Given the description of an element on the screen output the (x, y) to click on. 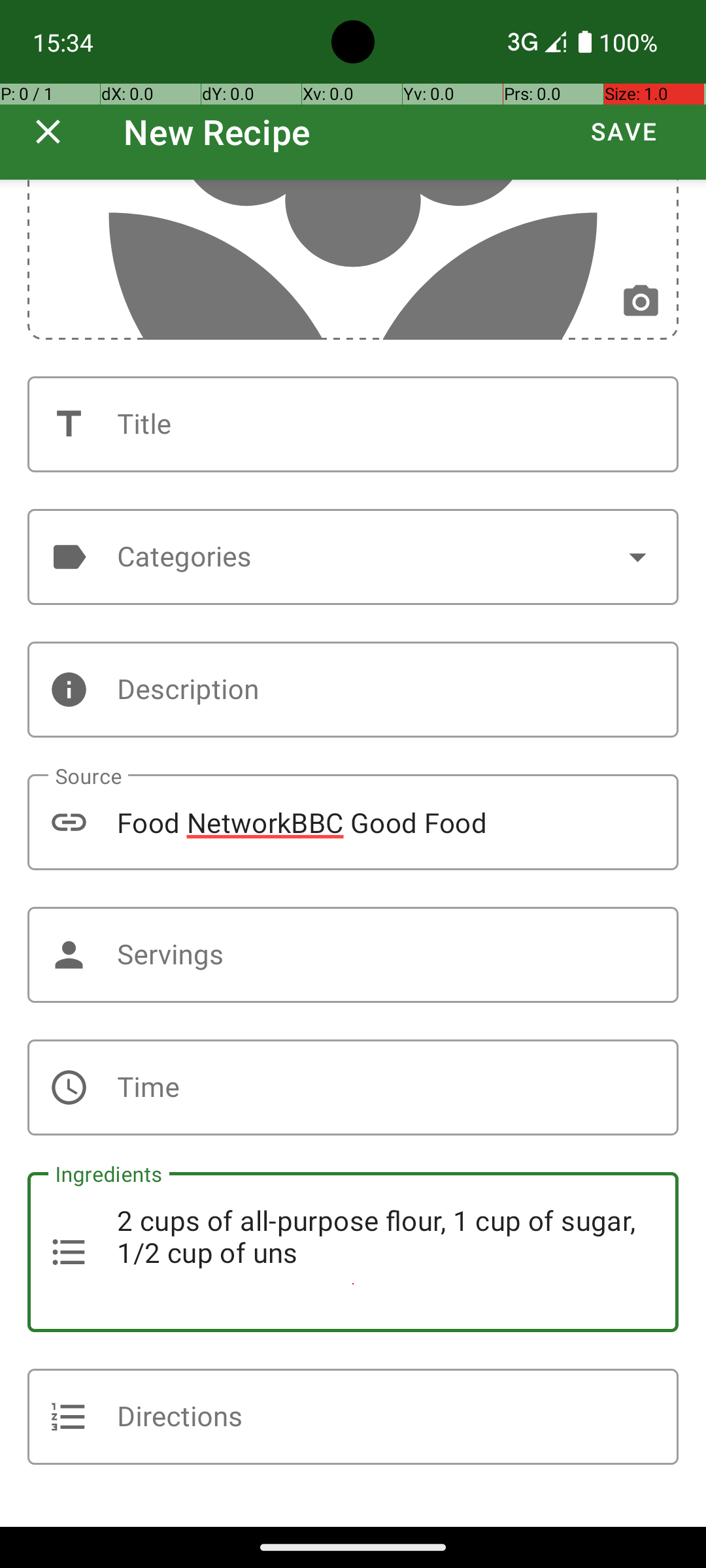
Change photo Element type: android.widget.ImageView (640, 301)
Title Element type: android.widget.EditText (352, 424)
Description Element type: android.widget.EditText (352, 689)
Food NetworkBBC Good Food Element type: android.widget.EditText (352, 822)
2 cups of all-purpose flour, 1 cup of sugar, 1/2 cup of uns
 Element type: android.widget.EditText (352, 1252)
